Given the description of an element on the screen output the (x, y) to click on. 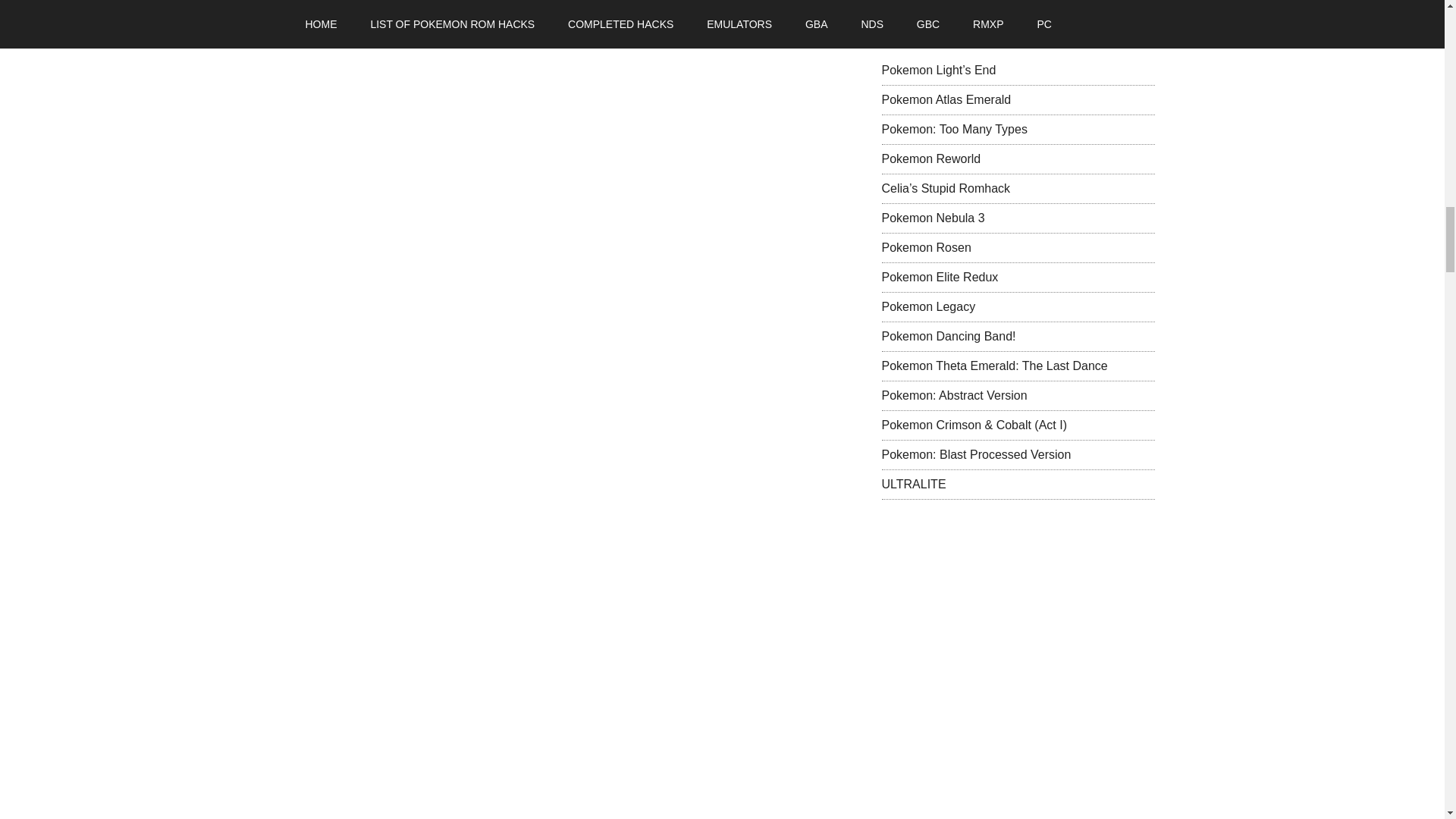
Pokemon Fire Red Rocket Edition Screenshot (380, 468)
Pokemon Fire Red Rocket Edition Screenshot (380, 30)
Pokemon Fire Red Rocket Edition Screenshot (380, 624)
Pokemon Fire Red Rocket Edition Screenshot (380, 156)
Pokemon Fire Red Rocket Edition Screenshot (380, 769)
Pokemon Fire Red Rocket Edition Screenshot (380, 312)
